Given the description of an element on the screen output the (x, y) to click on. 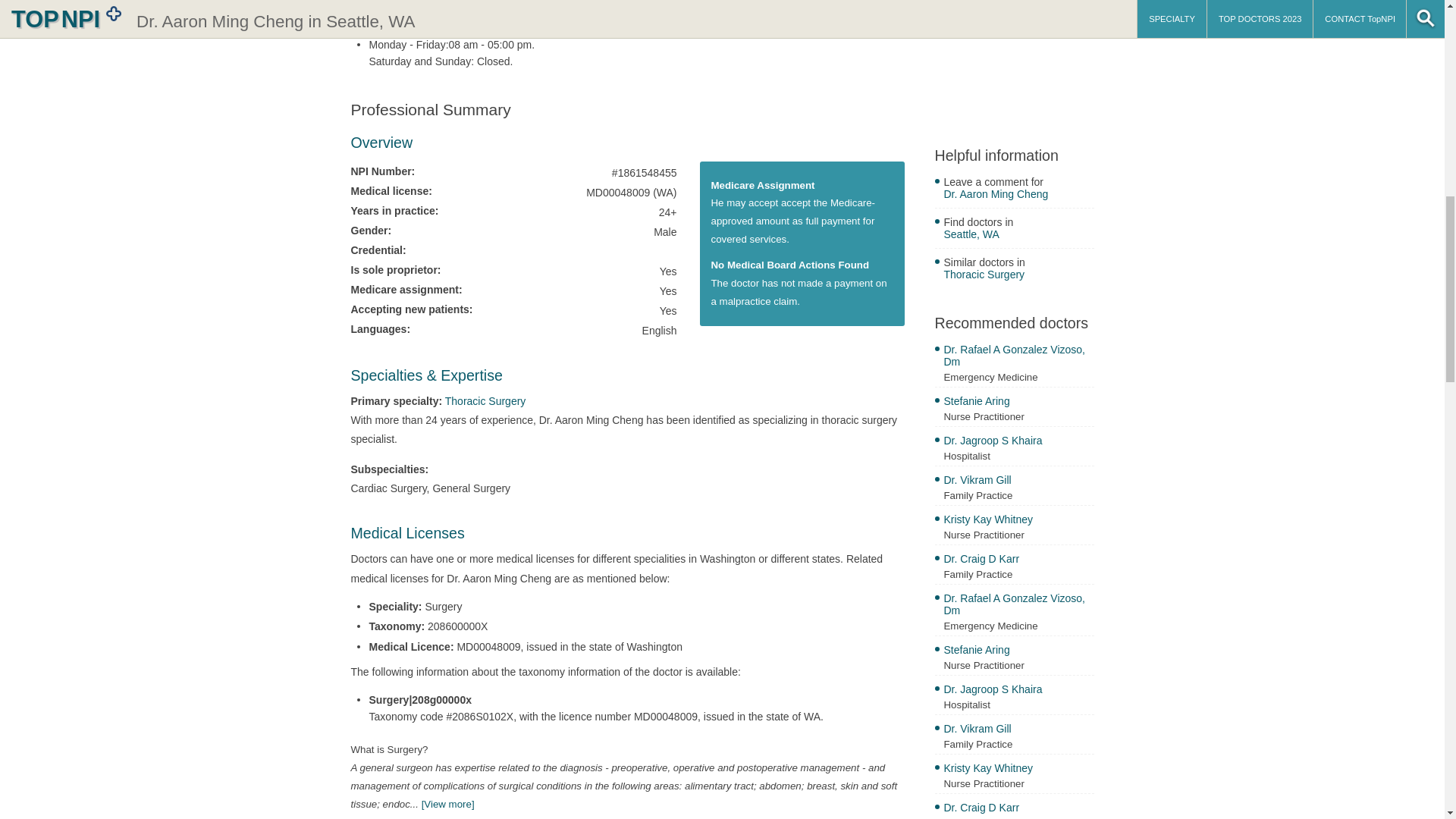
Dr. Aaron Ming Cheng (1018, 195)
Dr. Jagroop S Khaira (1018, 442)
Dr. Vikram Gill (1018, 730)
Seattle, WA (1018, 236)
Thoracic Surgery (485, 400)
Thoracic Surgery (1018, 276)
Dr. Vikram Gill (1018, 481)
Dr. Rafael A Gonzalez Vizoso, Dm (1018, 605)
Dr. Jagroop S Khaira (1018, 691)
Stefanie Aring (1018, 651)
